Given the description of an element on the screen output the (x, y) to click on. 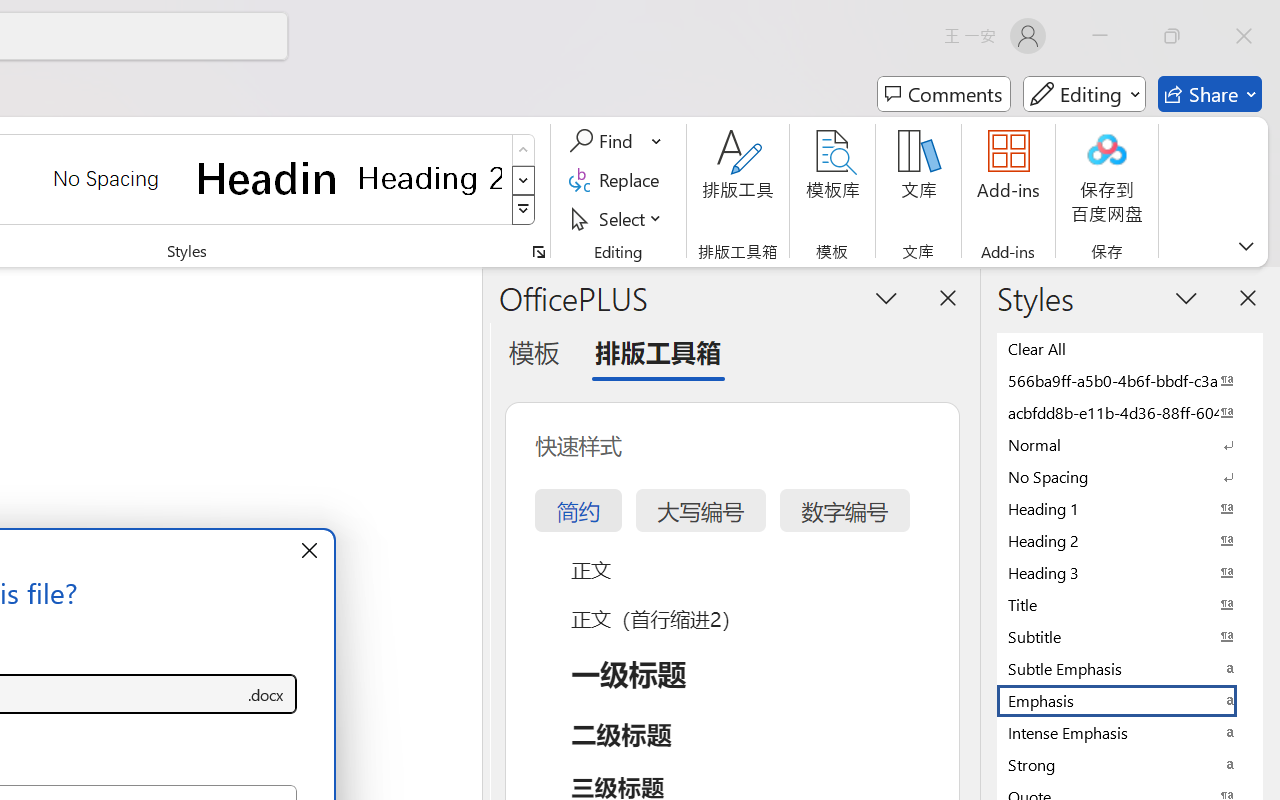
Minimize (1099, 36)
Emphasis (1130, 700)
Styles (523, 209)
Select (618, 218)
Class: NetUIImage (523, 210)
Task Pane Options (886, 297)
Save as type (265, 694)
Clear All (1130, 348)
Heading 2 (429, 178)
Find (604, 141)
Heading 3 (1130, 572)
